Given the description of an element on the screen output the (x, y) to click on. 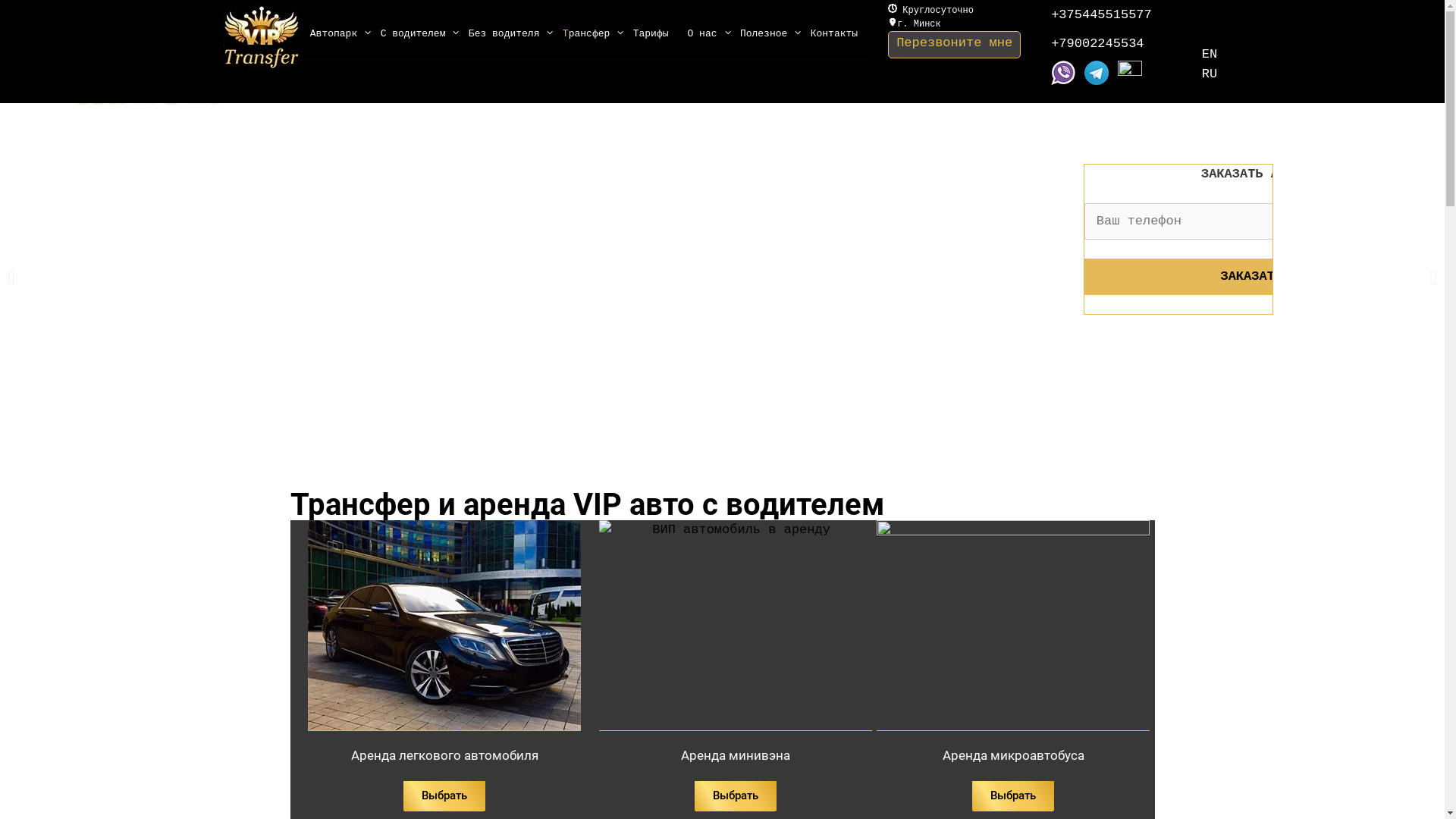
+79002245534 Element type: text (1101, 45)
+375445515577 Element type: text (1101, 17)
EN Element type: text (1209, 54)
RU Element type: text (1209, 73)
